Given the description of an element on the screen output the (x, y) to click on. 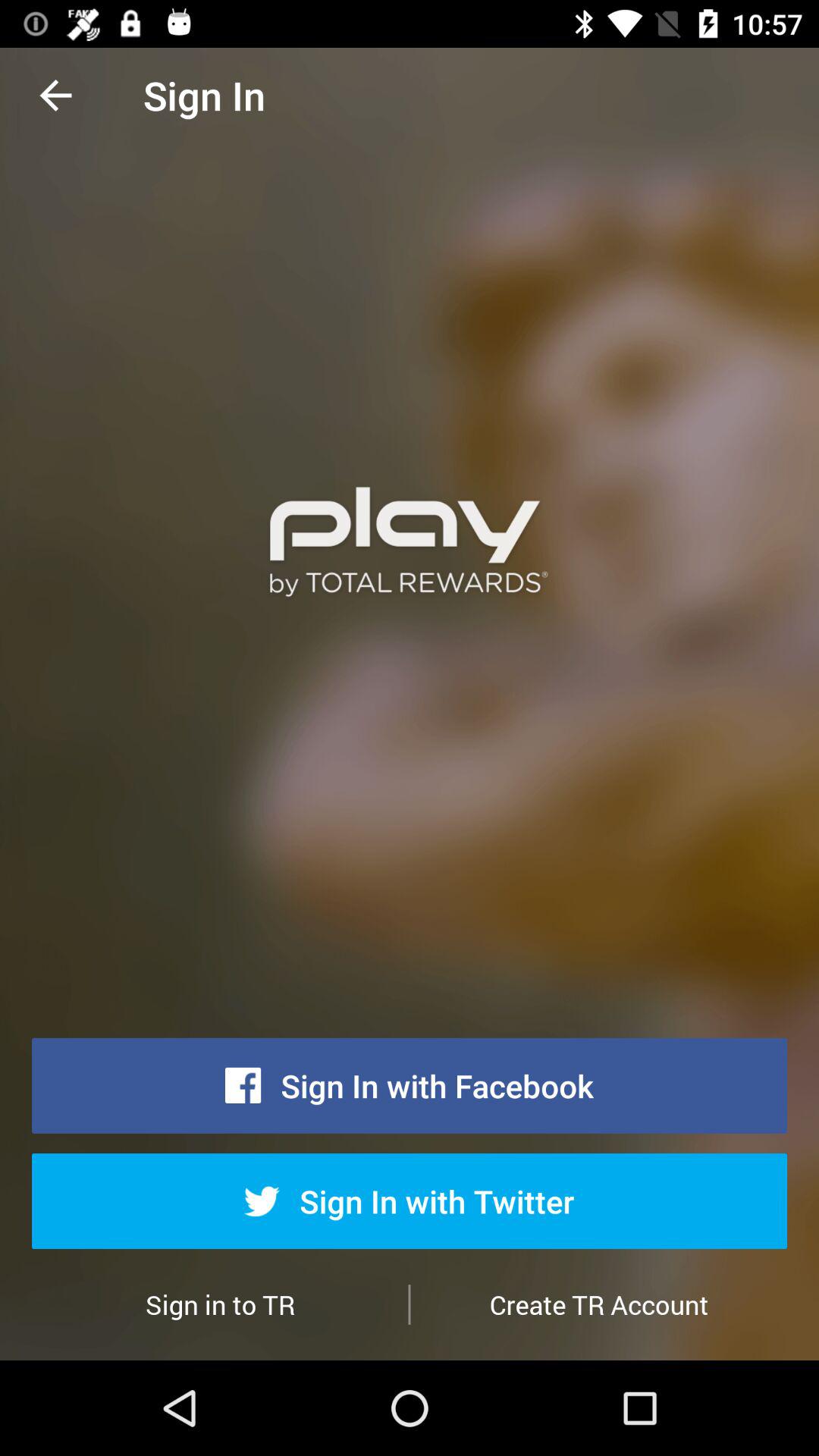
launch the item above the sign in to (55, 95)
